Given the description of an element on the screen output the (x, y) to click on. 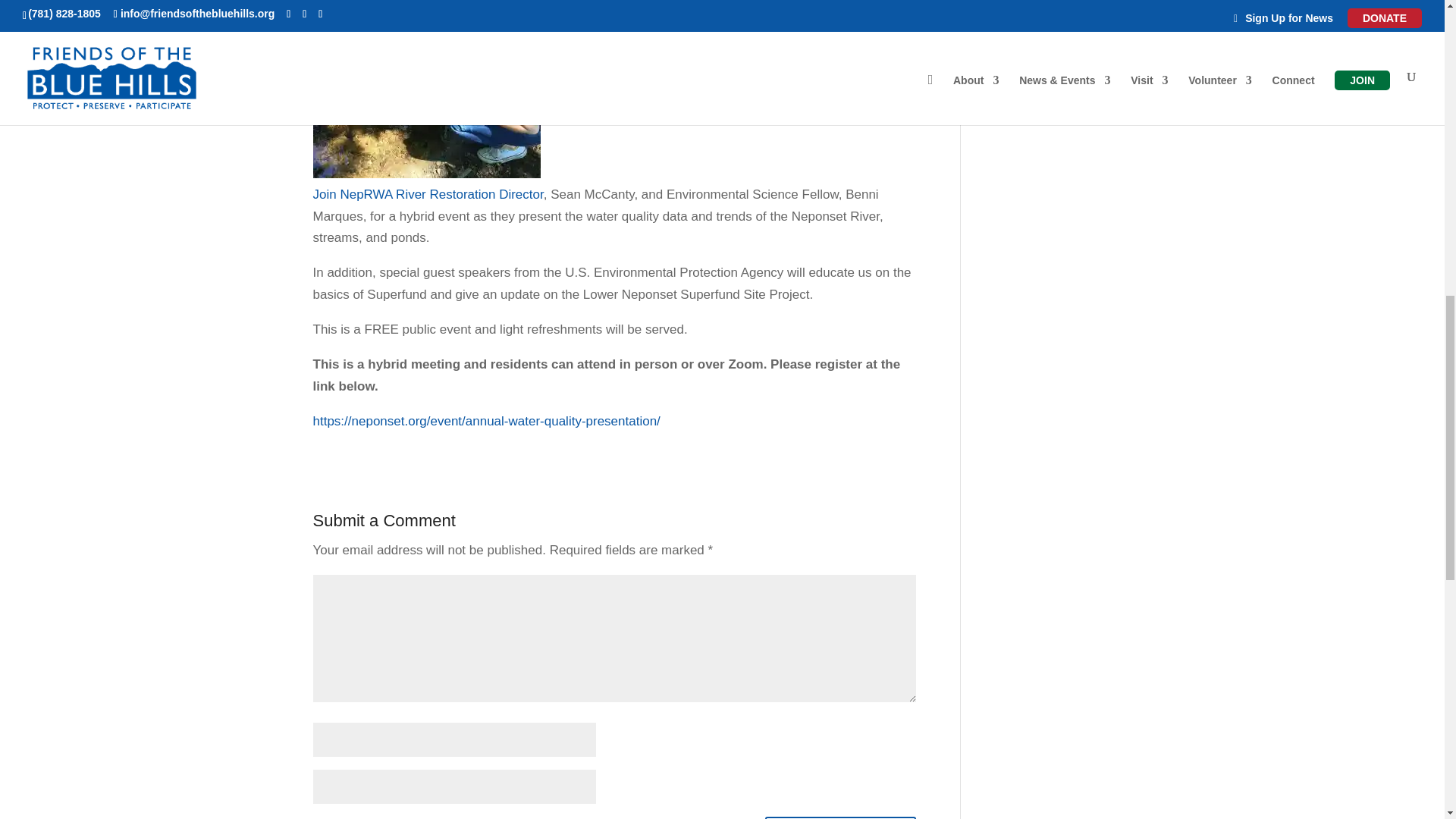
Search (1106, 41)
Submit Comment (840, 817)
